Given the description of an element on the screen output the (x, y) to click on. 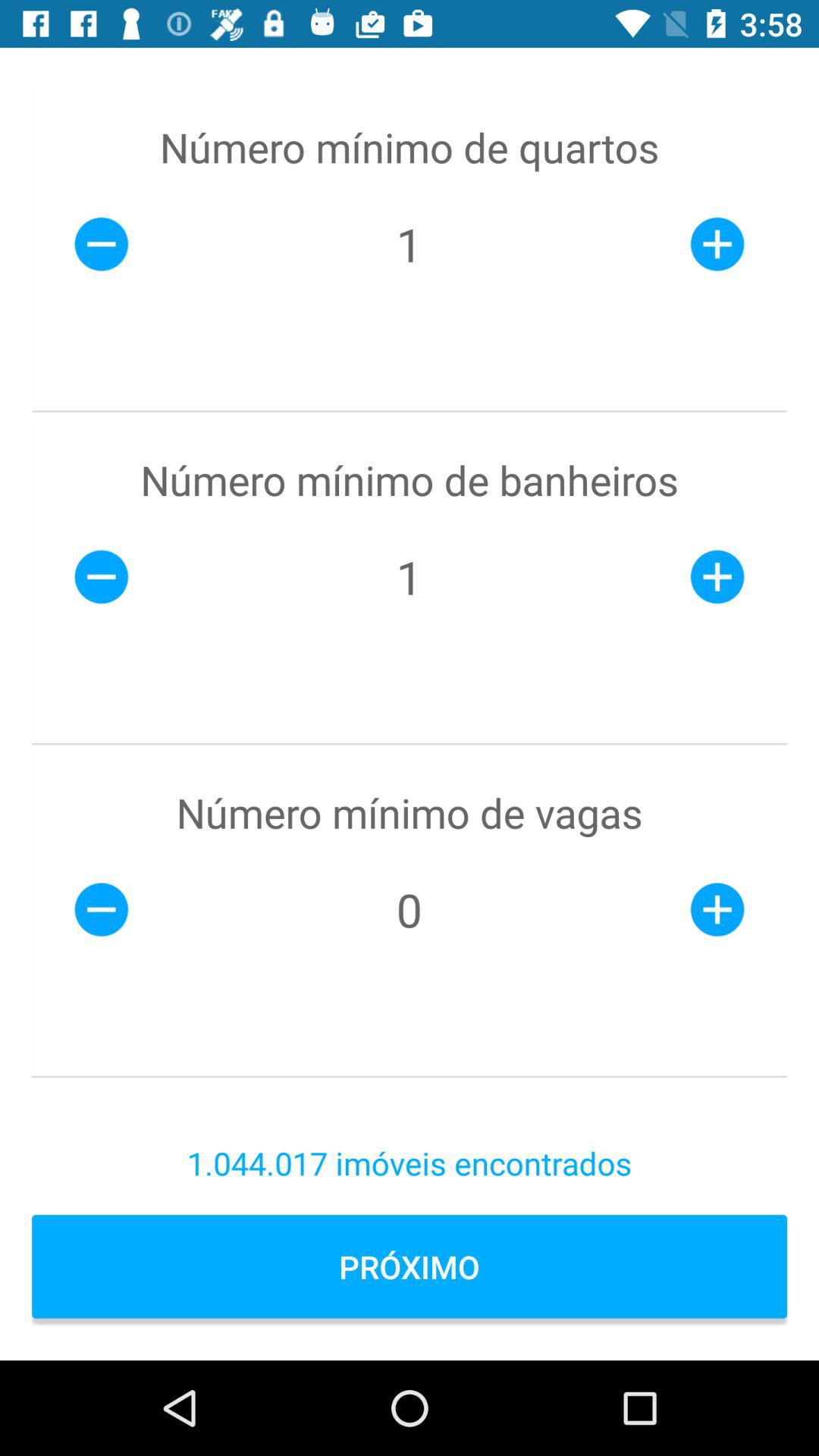
turn on icon below 1 044 017 item (409, 1266)
